Given the description of an element on the screen output the (x, y) to click on. 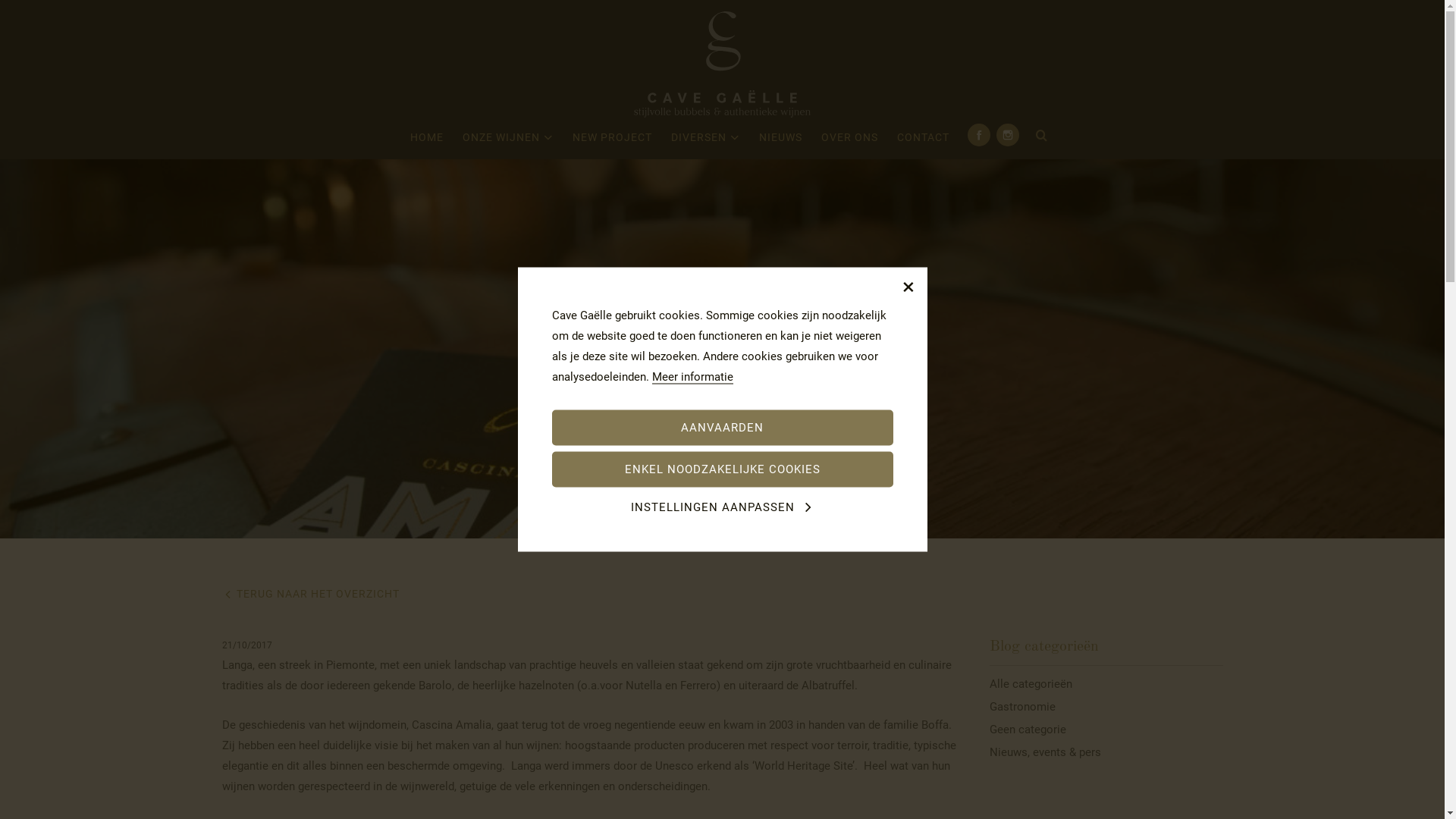
INSTELLINGEN AANPASSEN Element type: text (722, 506)
ENKEL NOODZAKELIJKE COOKIES Element type: text (722, 469)
TERUG NAAR HET OVERZICHT Element type: text (309, 593)
ONZE WIJNEN Element type: text (507, 140)
Zoeken Element type: hover (1041, 136)
Nieuws, events & pers Element type: text (1106, 752)
NEW PROJECT Element type: text (612, 140)
Volg ons op Facebook Element type: hover (978, 134)
CONTACT Element type: text (923, 140)
AANVAARDEN Element type: text (722, 427)
HOME Element type: text (426, 140)
OVER ONS Element type: text (849, 140)
Gastronomie Element type: text (1106, 706)
DIVERSEN Element type: text (705, 140)
NIEUWS Element type: text (780, 140)
Volg ons op Instagram Element type: hover (1007, 134)
Meer informatie Element type: text (692, 377)
Geen categorie Element type: text (1106, 729)
